Given the description of an element on the screen output the (x, y) to click on. 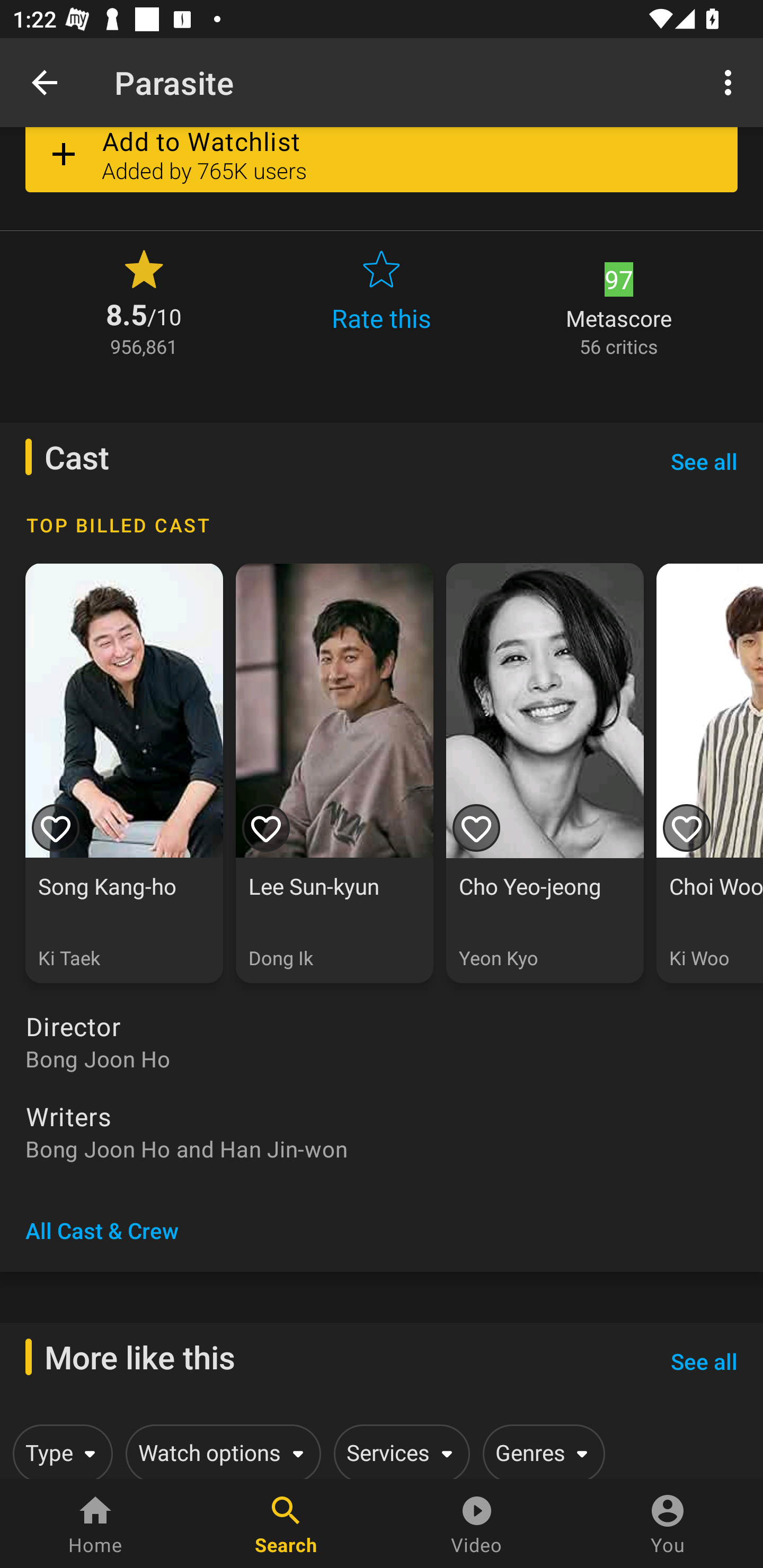
More options (731, 81)
Add to Watchlist Added by 765K users (381, 166)
8.5 /10 956,861 (143, 301)
Rate this (381, 301)
97 Metascore 56 critics (618, 301)
See all See all Cast (703, 461)
Song Kang-ho Ki Taek (123, 772)
Lee Sun-kyun Dong Ik (334, 772)
Cho Yeo-jeong Yeon Kyo (544, 772)
Bong Joon Ho (381, 1059)
Bong Joon Ho and Han Jin-won (381, 1148)
All Cast & Crew (101, 1230)
See all See all More like this (703, 1361)
Type (59, 1450)
Watch options (219, 1450)
Services (398, 1450)
Genres (540, 1450)
Home (95, 1523)
Video (476, 1523)
You (667, 1523)
